Given the description of an element on the screen output the (x, y) to click on. 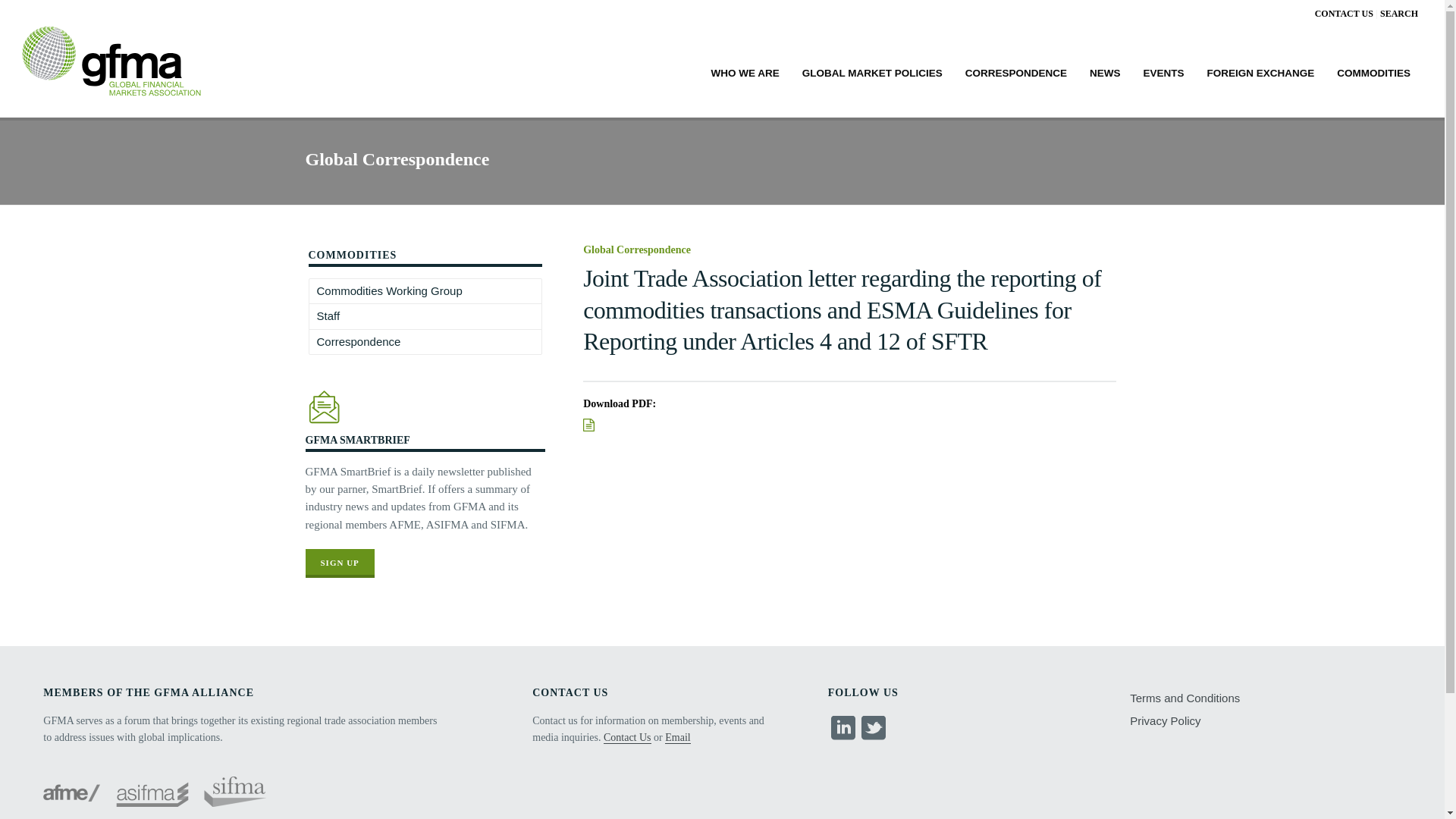
NEWS (1105, 71)
WHO WE ARE (744, 71)
NEWS (1105, 71)
WHO WE ARE (744, 71)
Follow Us on twitter (873, 728)
GLOBAL MARKET POLICIES (871, 71)
SIGN UP (339, 563)
Privacy Policy (1168, 721)
SEARCH (1399, 13)
Email (677, 737)
FOREIGN EXCHANGE (1259, 71)
Staff (327, 315)
COMMODITIES (1373, 71)
CORRESPONDENCE (1015, 71)
Global Financial Markets Association (109, 72)
